Given the description of an element on the screen output the (x, y) to click on. 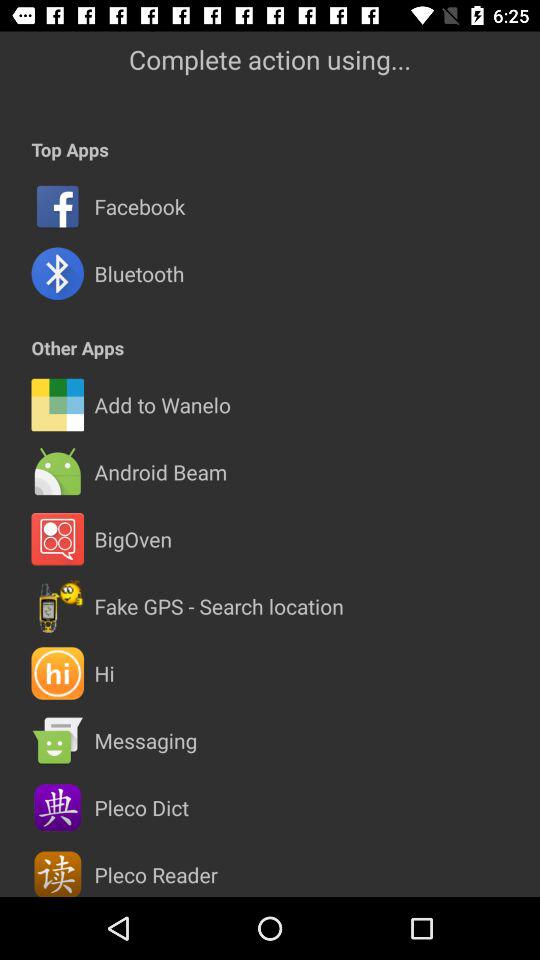
tap the bluetooth (139, 273)
